Given the description of an element on the screen output the (x, y) to click on. 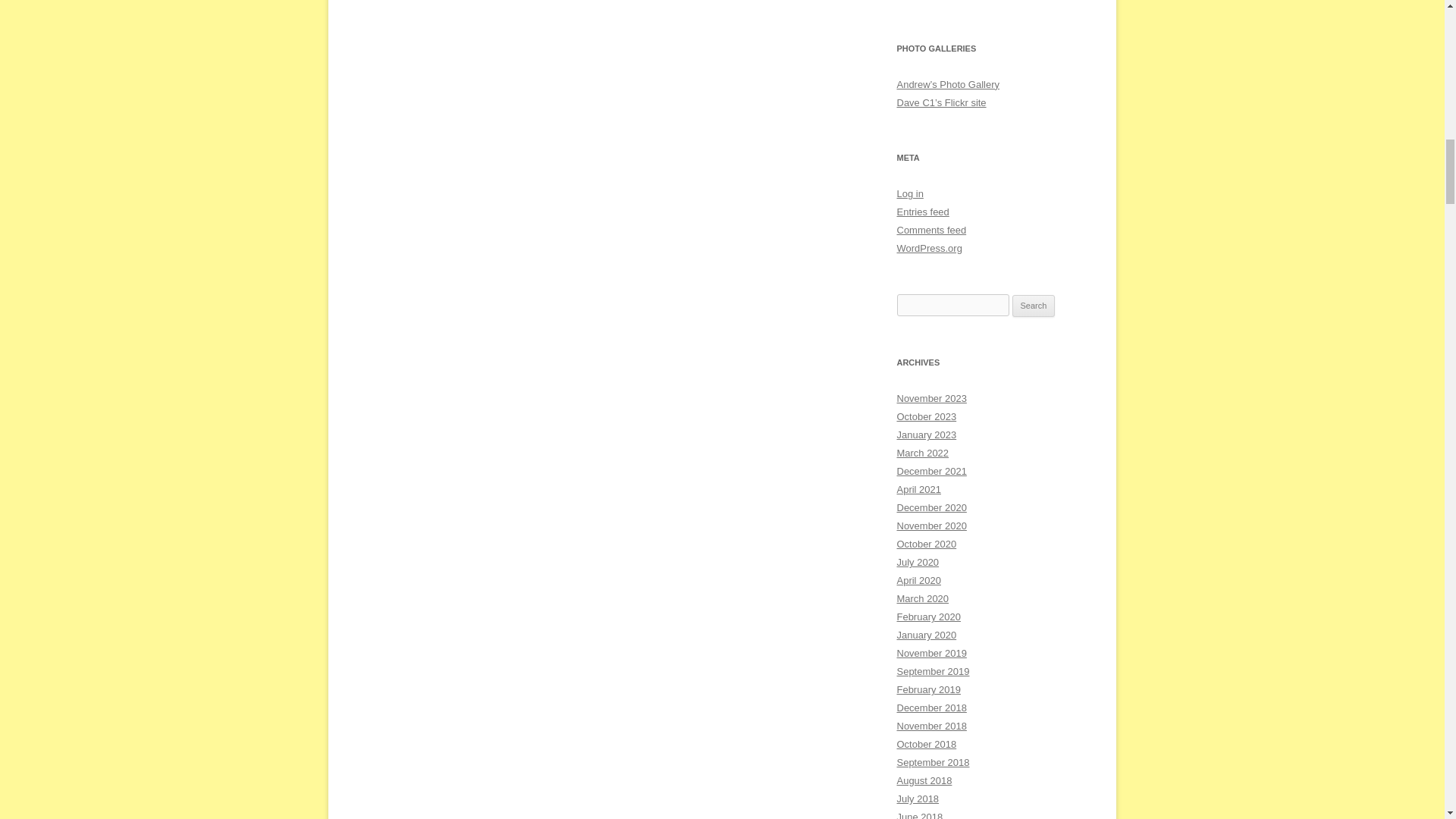
Search (1033, 305)
Railway photos etc. (947, 84)
Railway photos etc. (940, 102)
